Given the description of an element on the screen output the (x, y) to click on. 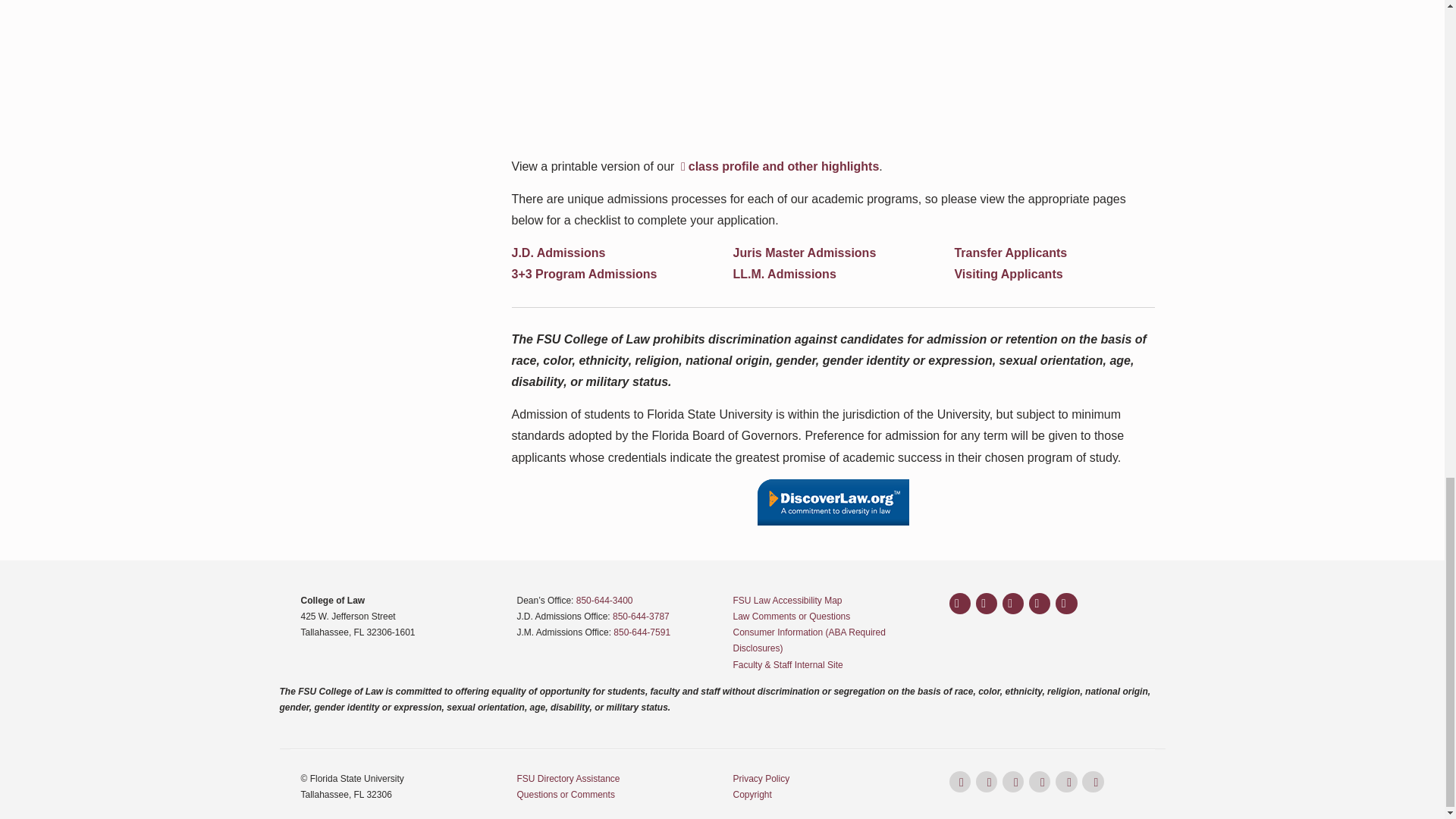
Follow Florida State on Twitter (1013, 603)
Consumer Information (808, 640)
Faculty and staff site (787, 665)
Like Florida State on Facebook (960, 603)
Follow Florida State on Instagram (986, 603)
Class profile and highlights (778, 165)
Connect with Florida State on LinkedIn (1066, 603)
Follow Florida State on Youtube (1039, 603)
